Given the description of an element on the screen output the (x, y) to click on. 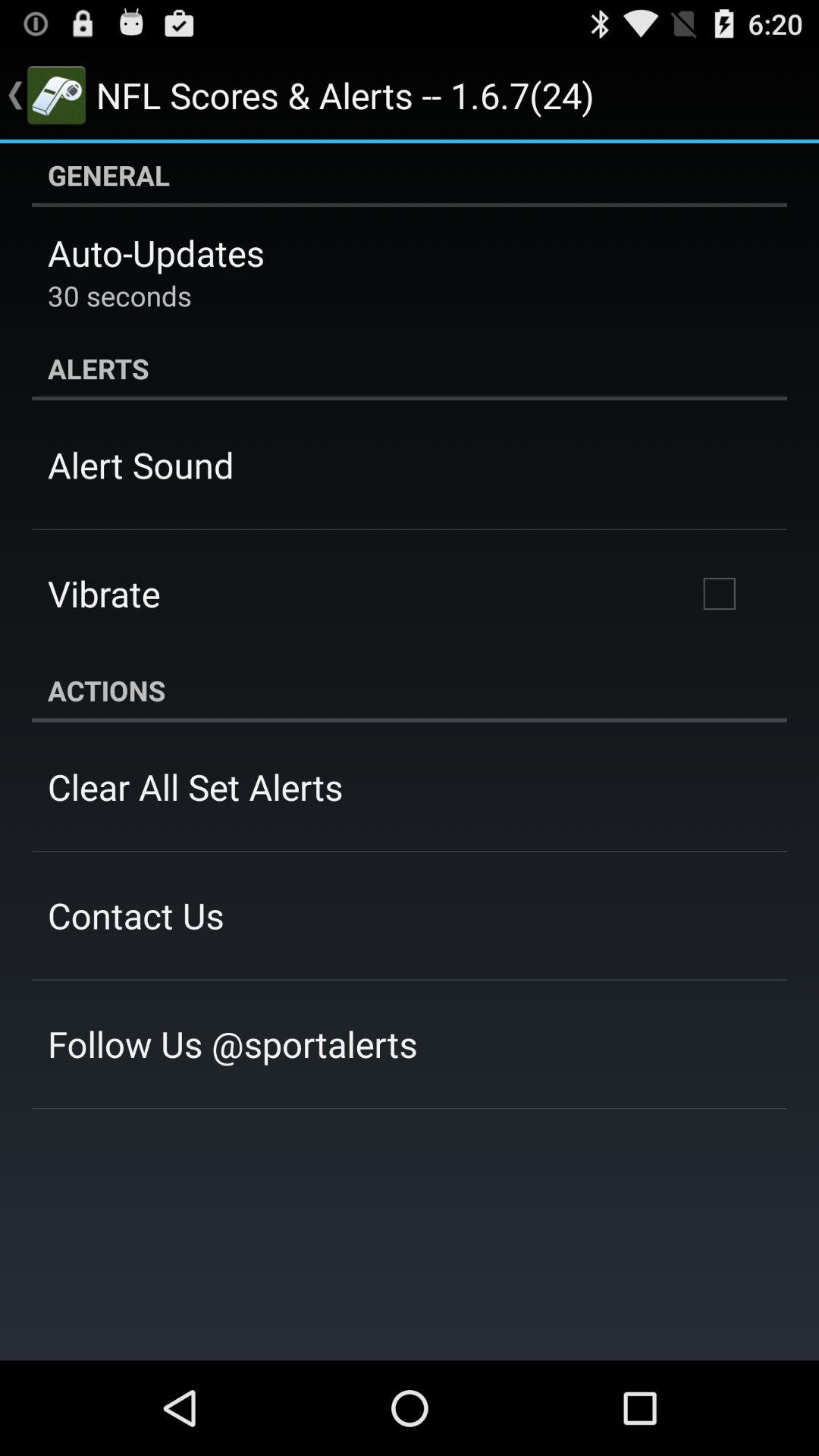
turn off icon below the contact us (232, 1043)
